Given the description of an element on the screen output the (x, y) to click on. 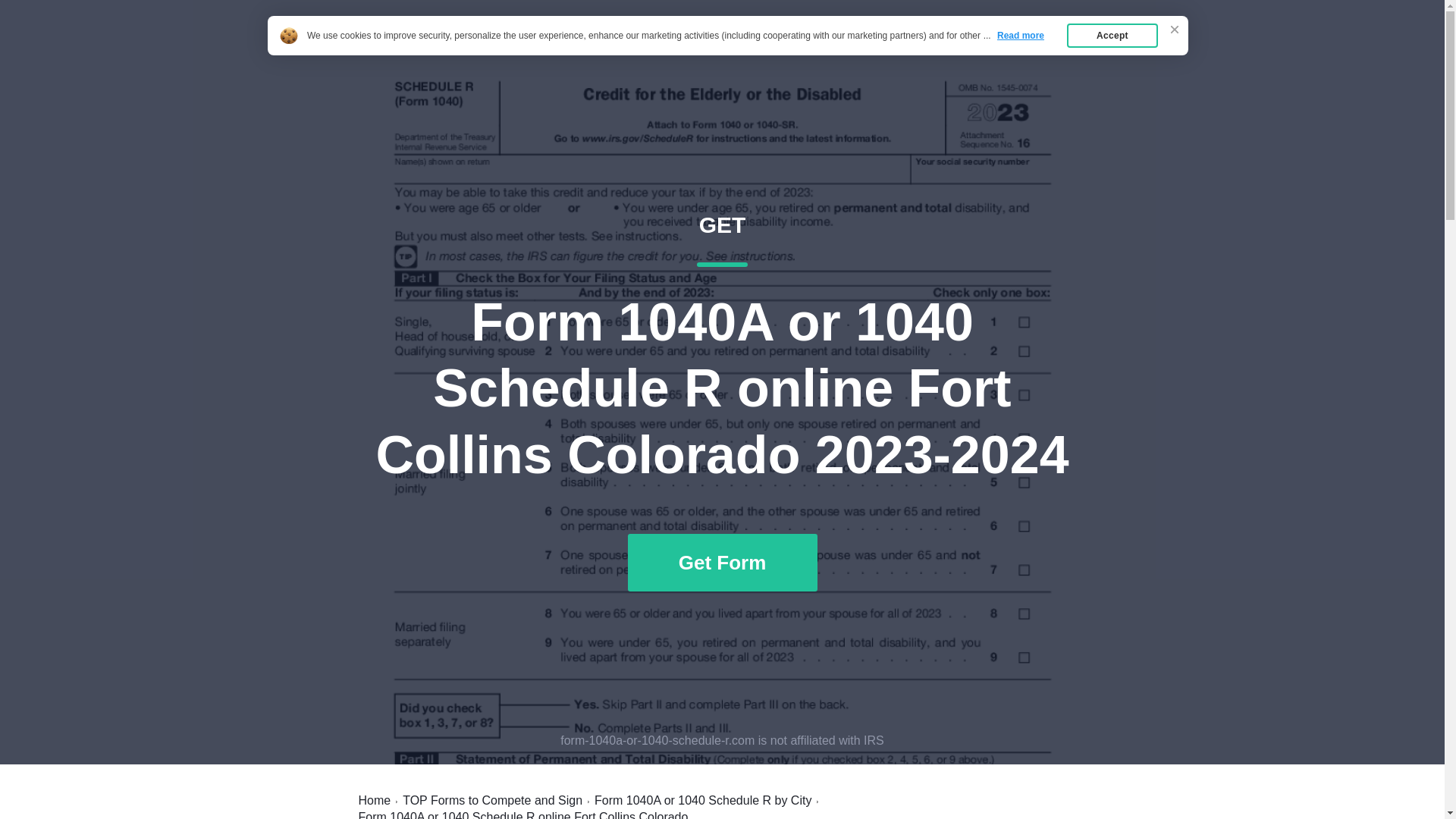
Home (987, 47)
Top Forms (1062, 47)
Form 1040a Or 1040 Schedule R (494, 46)
TOP Forms to Compete and Sign (492, 800)
Home (374, 800)
Form 1040A or 1040 Schedule R by City (702, 800)
